Given the description of an element on the screen output the (x, y) to click on. 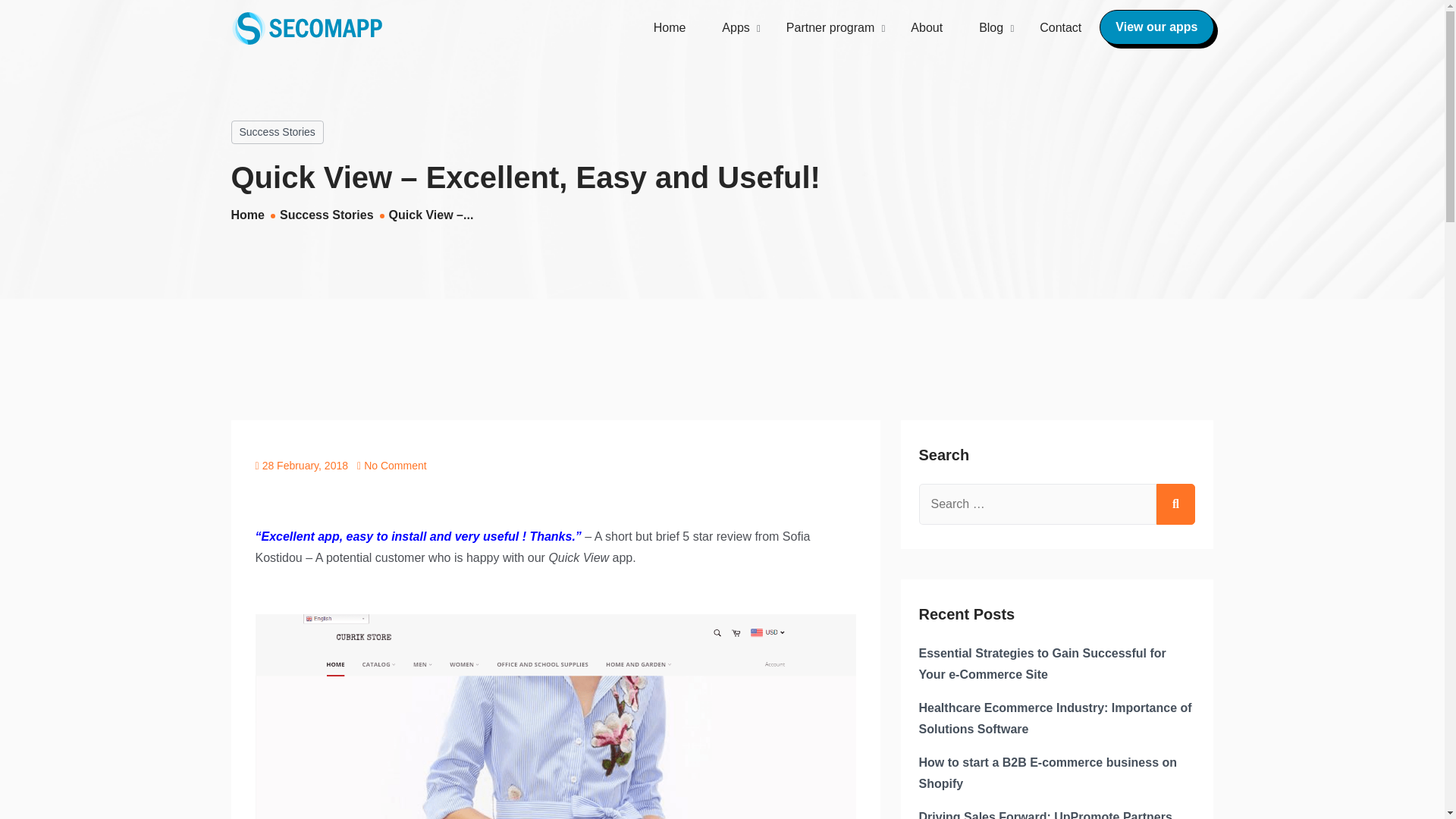
View our apps (1155, 27)
About (926, 27)
Blog (991, 27)
Apps (735, 27)
Blog (991, 27)
About (926, 27)
Home (669, 27)
Contact (1051, 27)
Partner program (830, 27)
Home (669, 27)
Partner program (830, 27)
Apps (735, 27)
